Given the description of an element on the screen output the (x, y) to click on. 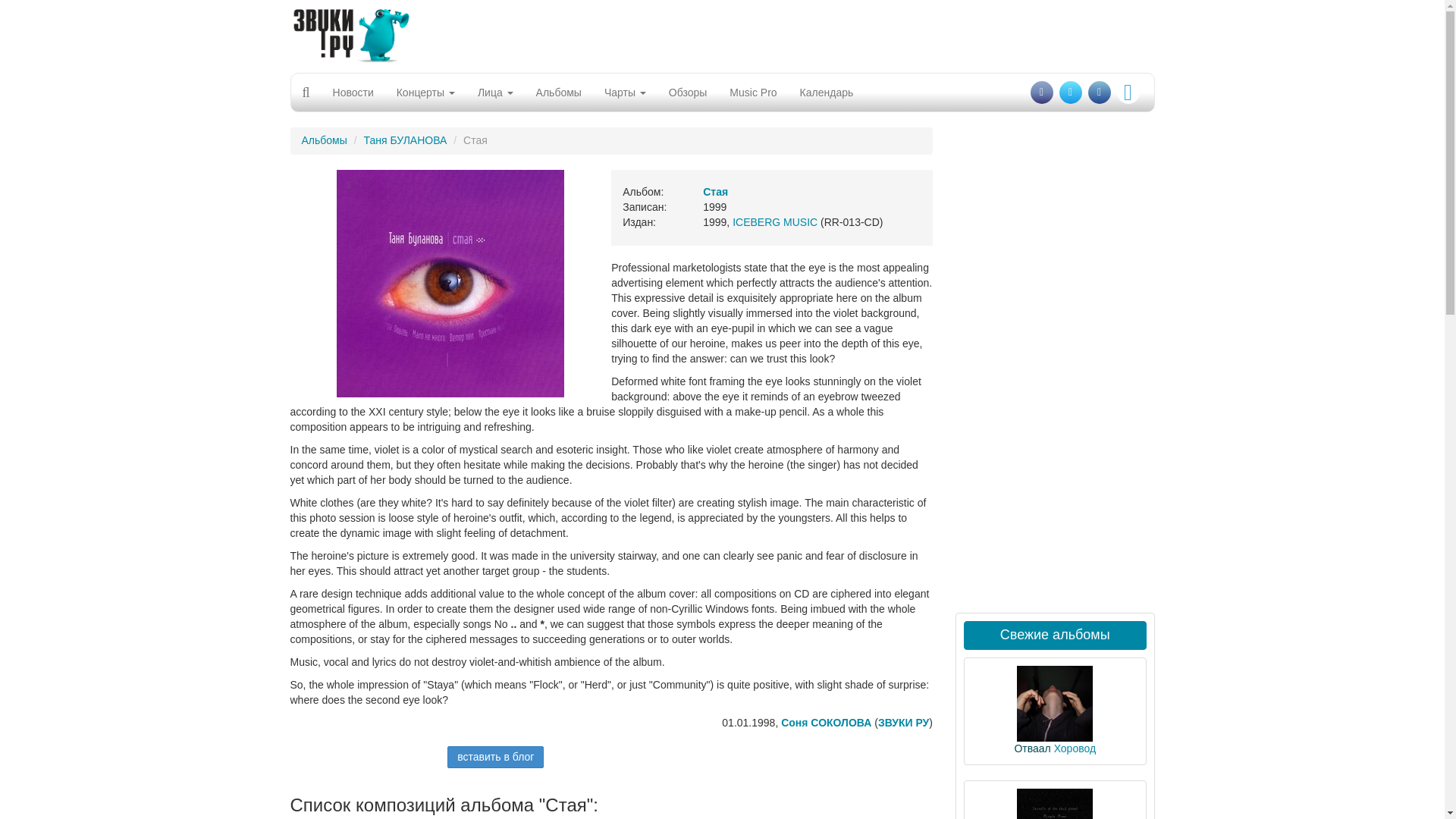
Music Pro (752, 92)
ICEBERG MUSIC (774, 222)
Advertisement (721, 33)
